Given the description of an element on the screen output the (x, y) to click on. 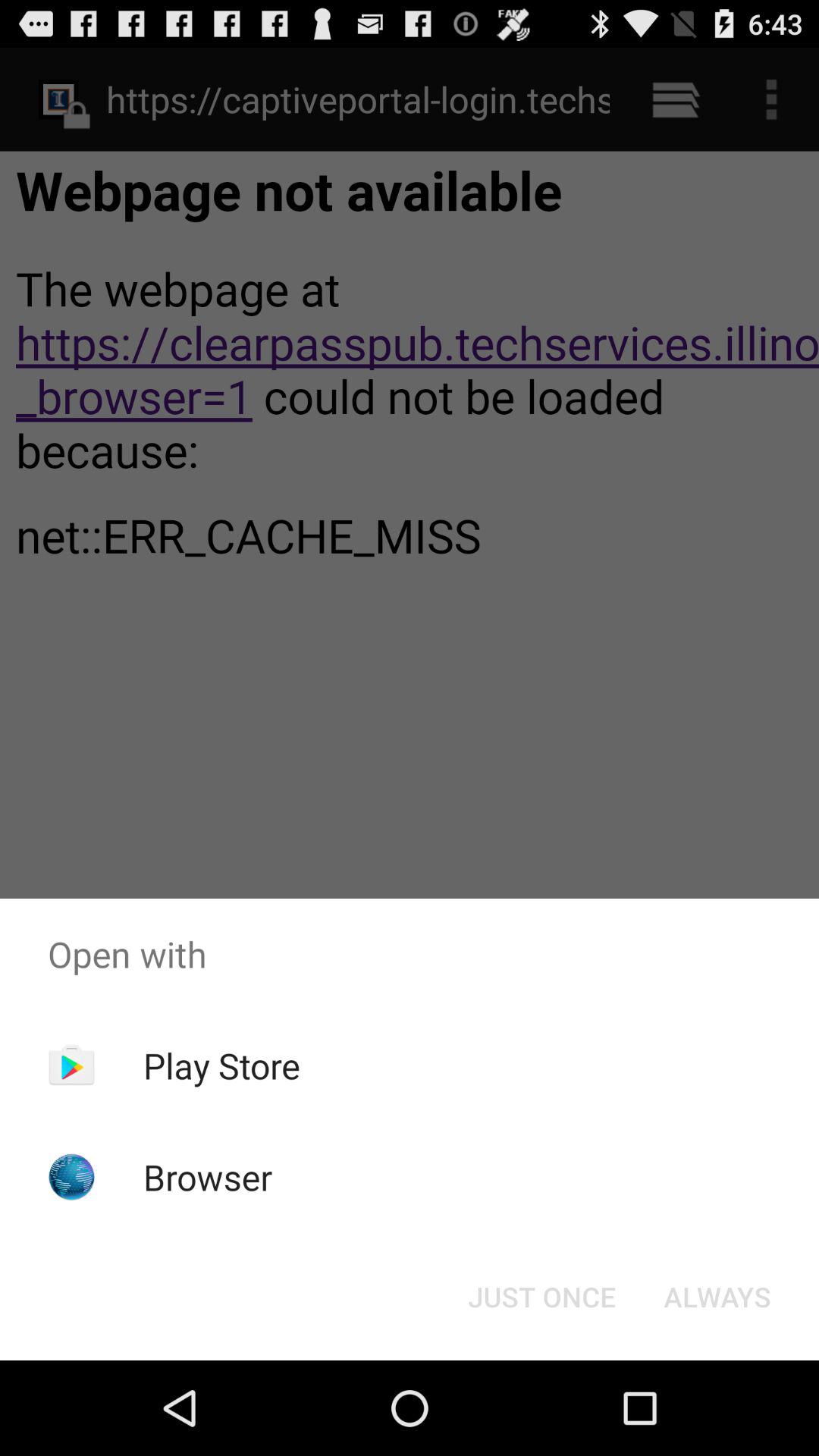
choose the browser app (207, 1176)
